Given the description of an element on the screen output the (x, y) to click on. 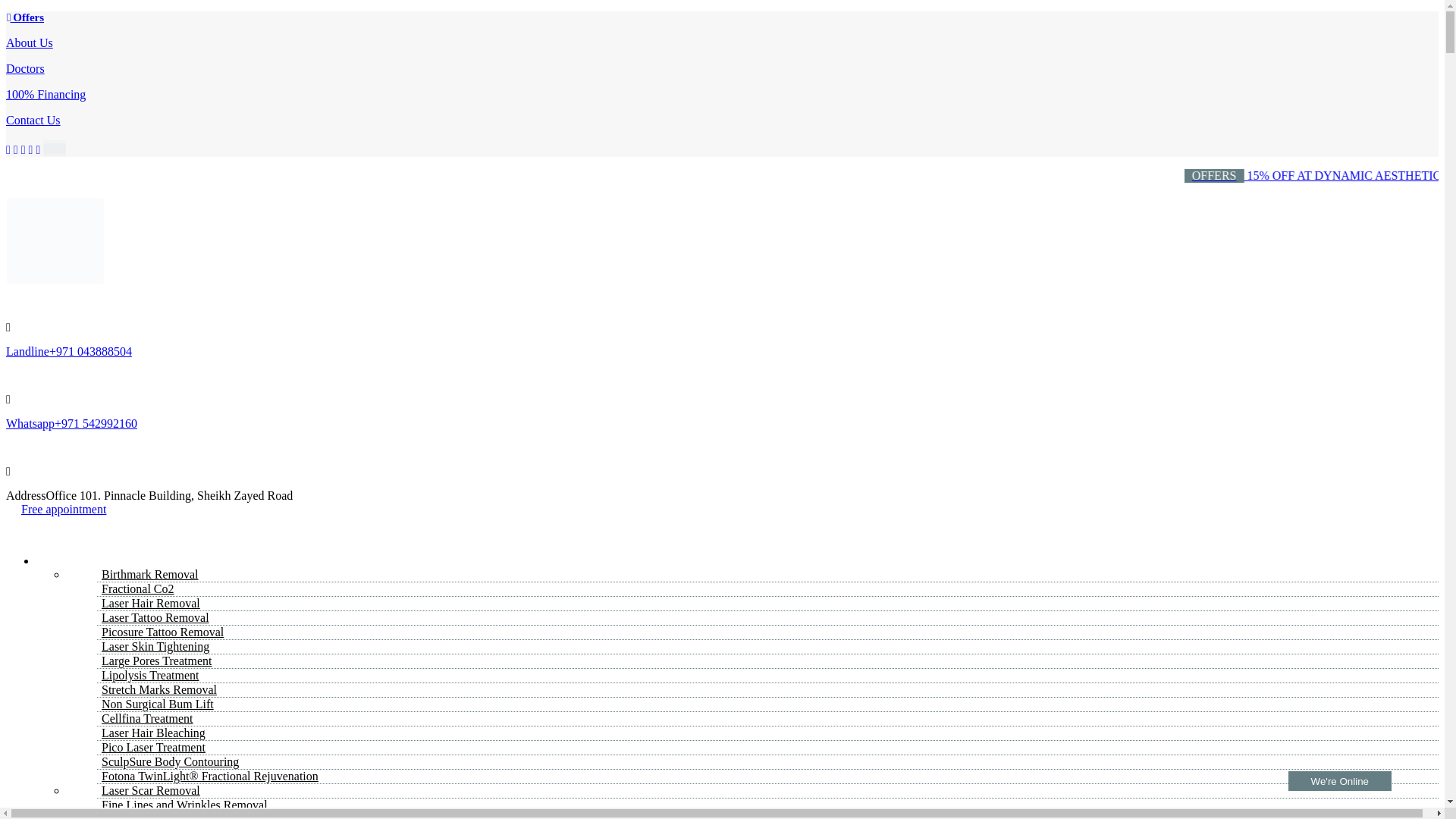
Lipolysis Treatment (150, 674)
Large Pores Treatment (156, 660)
SculpSure Body Contouring (170, 761)
Birthmark Removal (150, 574)
About Us (28, 42)
Offers (24, 17)
Laser Hair Removal (151, 602)
Pico Laser Treatment (153, 747)
Free appointment (63, 508)
Laser Tattoo Removal (155, 617)
